Given the description of an element on the screen output the (x, y) to click on. 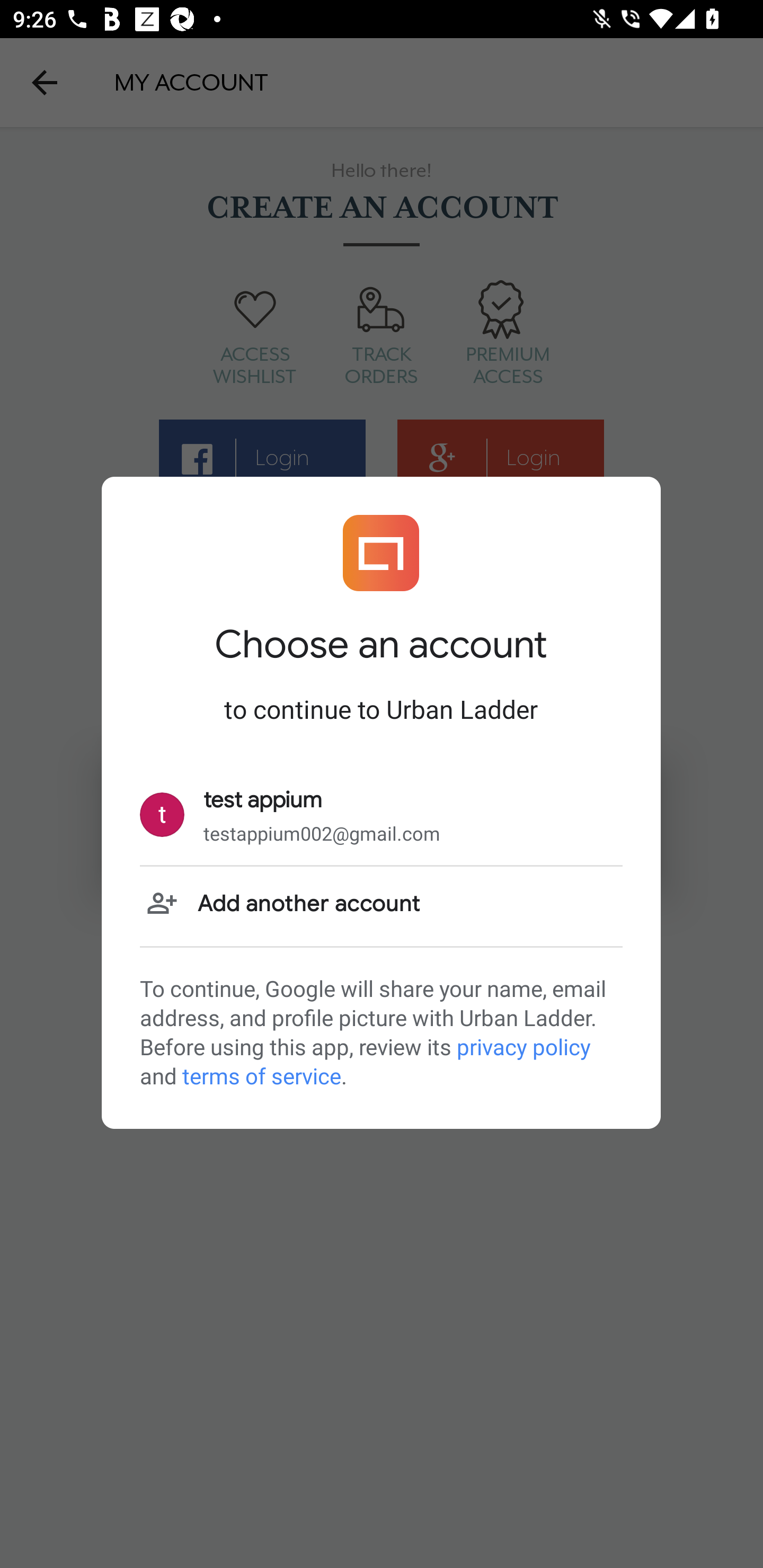
test appium testappium002@gmail.com (380, 815)
Add another account (380, 905)
